Given the description of an element on the screen output the (x, y) to click on. 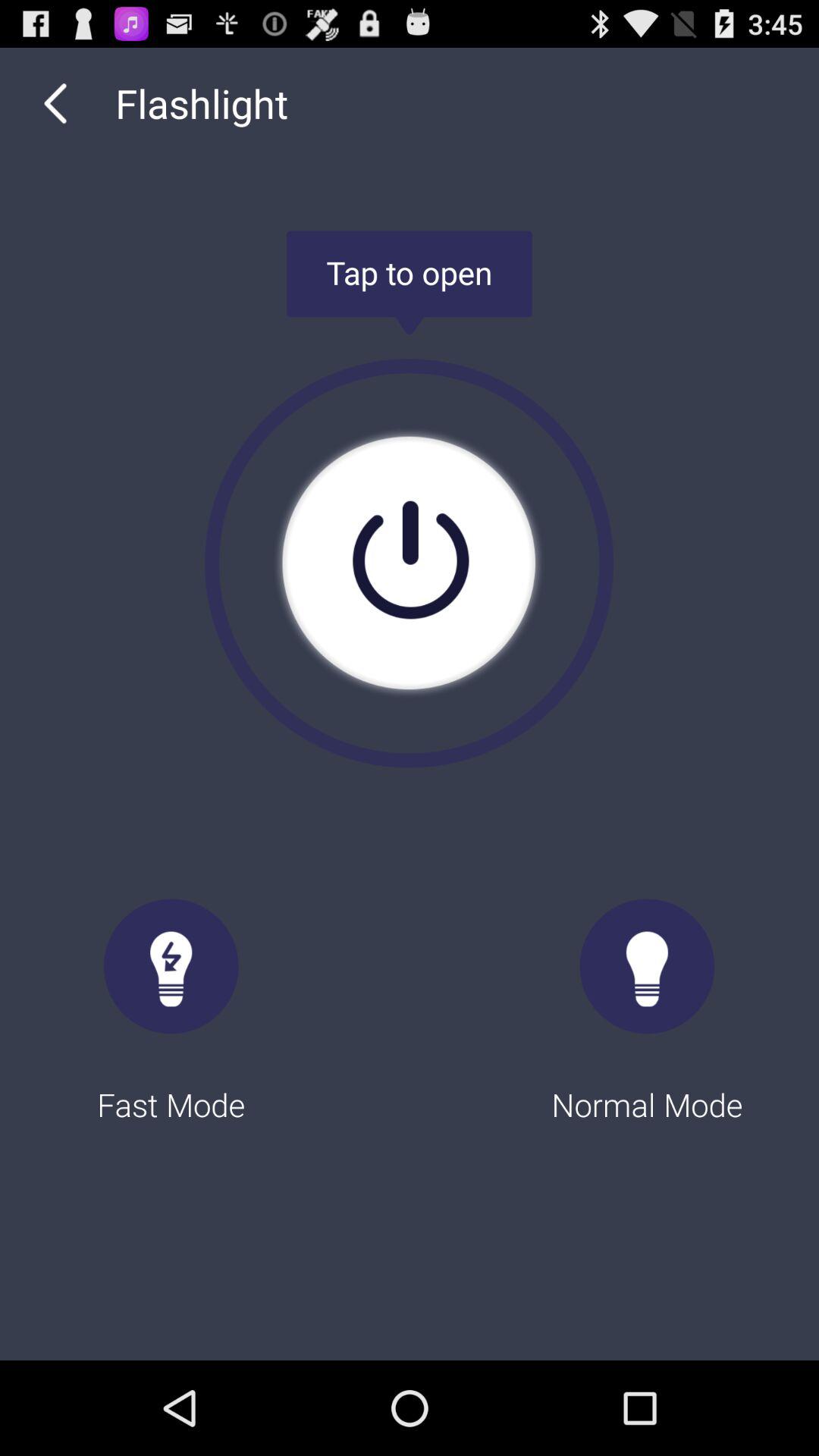
tap icon above the fast mode (55, 103)
